Given the description of an element on the screen output the (x, y) to click on. 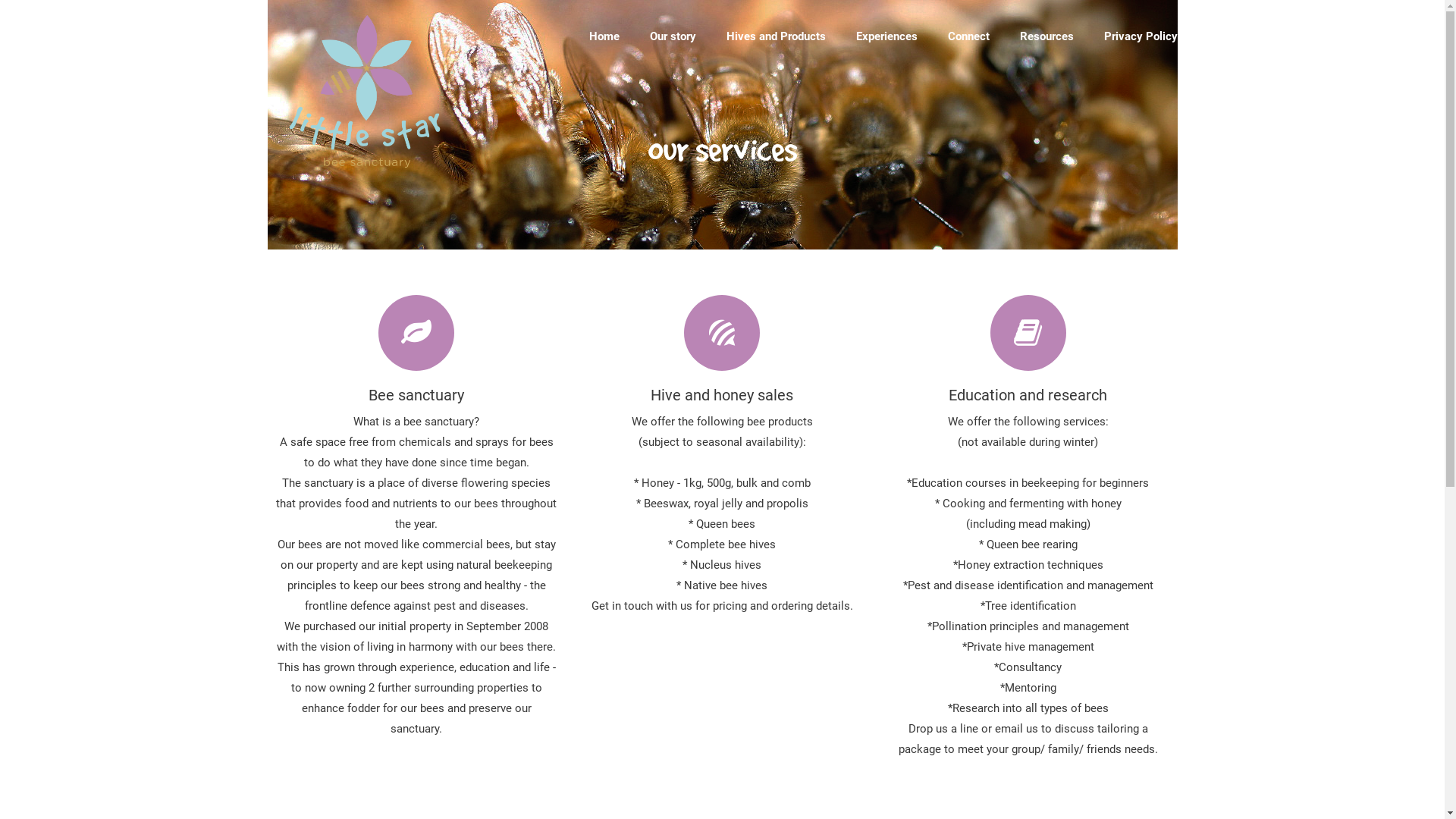
Experiences Element type: text (885, 36)
Hives and Products Element type: text (775, 36)
little star bee sanctuary Element type: hover (369, 166)
Privacy Policy Element type: text (1140, 36)
Our story Element type: text (671, 36)
Connect Element type: text (968, 36)
Resources Element type: text (1046, 36)
Home Element type: text (603, 36)
